Given the description of an element on the screen output the (x, y) to click on. 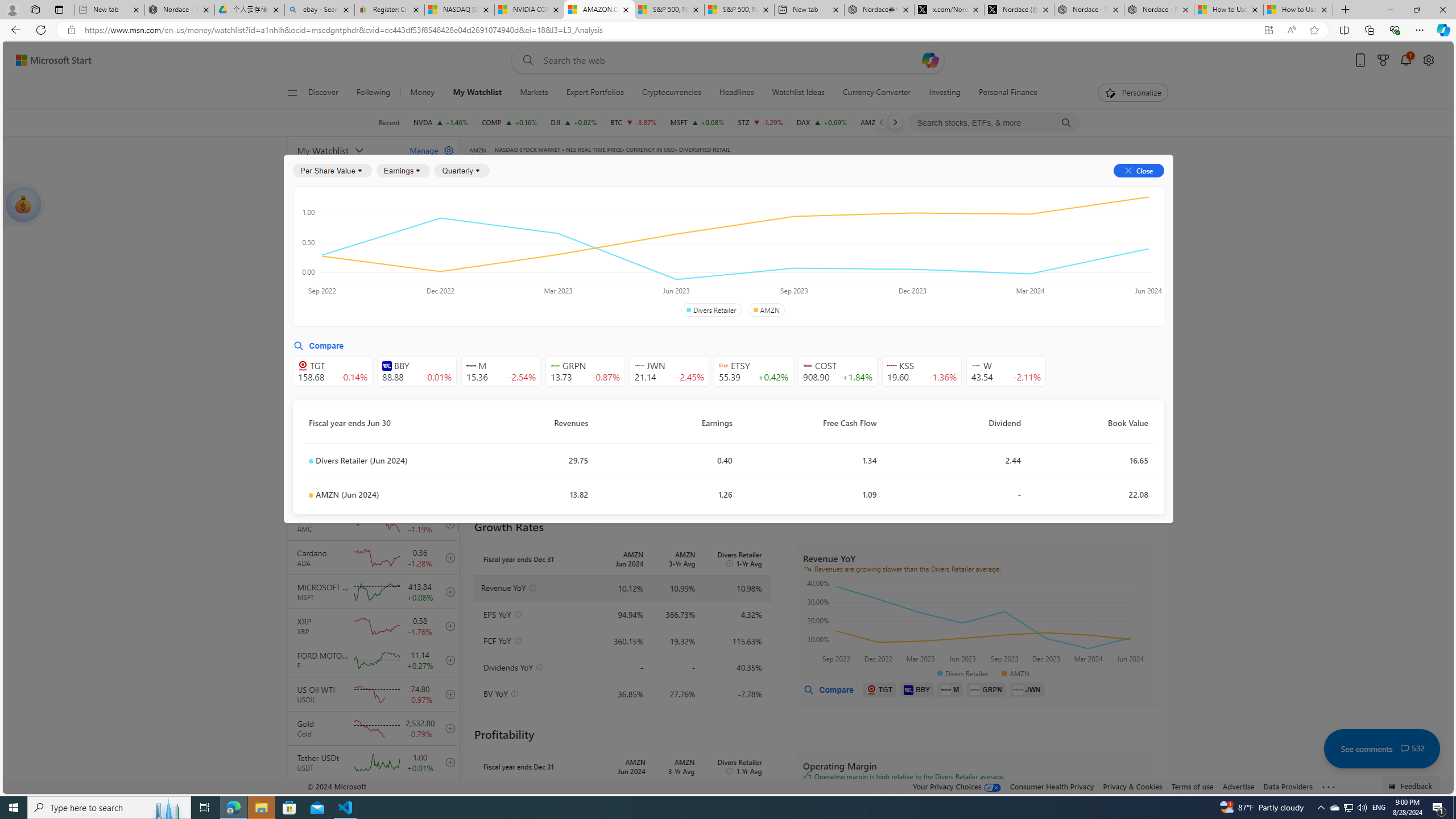
BBY (916, 689)
Watchlist Ideas (798, 92)
Terms of use (1192, 786)
Money (422, 92)
add to your watchlist (447, 796)
Investors (1009, 188)
Feedback (1411, 784)
Open settings (1427, 60)
S&P 500, Nasdaq end lower, weighed by Nvidia dip | Watch (738, 9)
Notifications (1405, 60)
Markets (534, 92)
Expert Portfolios (594, 92)
